Given the description of an element on the screen output the (x, y) to click on. 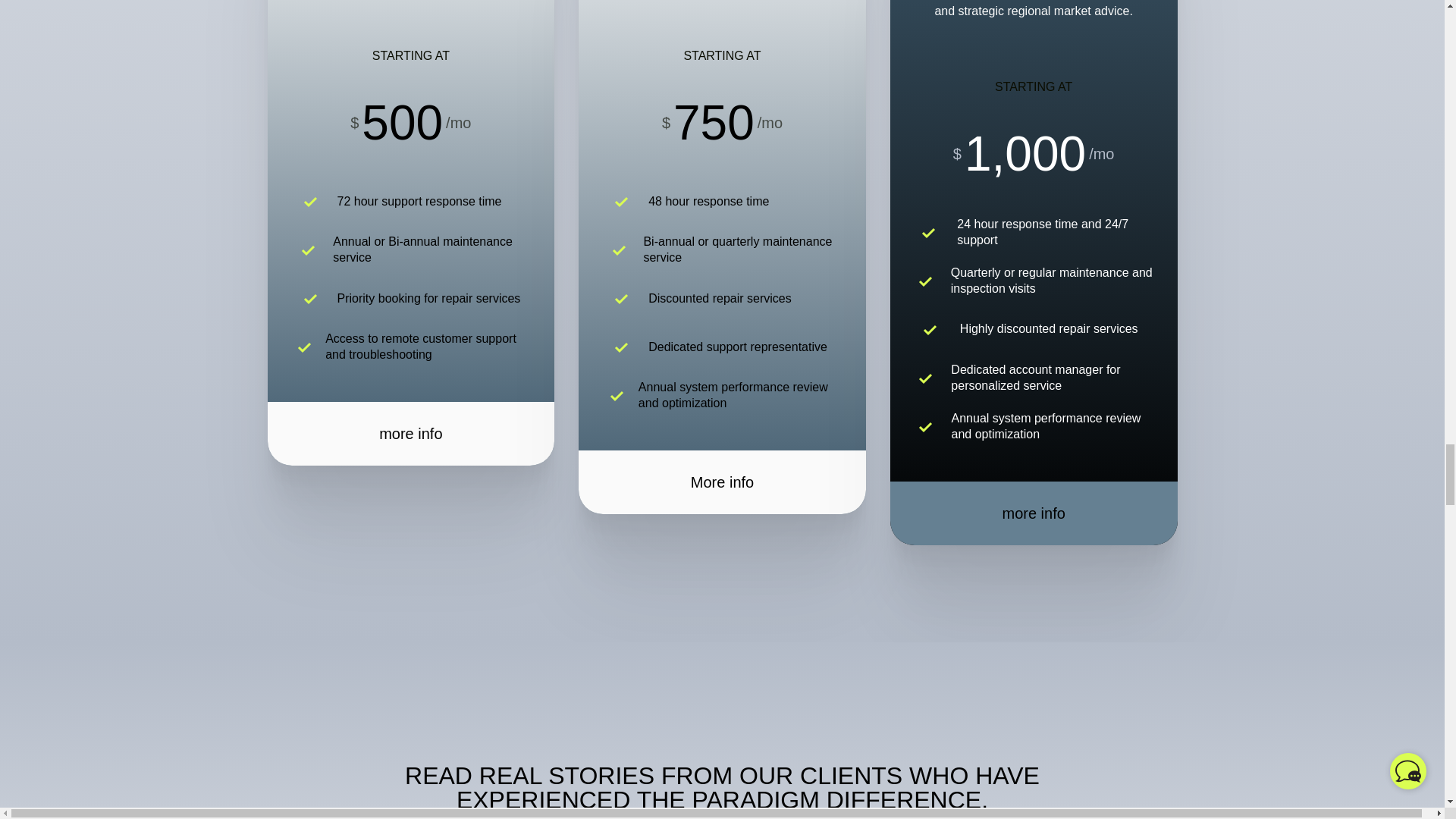
more info (1033, 513)
More info (722, 482)
more info (410, 434)
